Given the description of an element on the screen output the (x, y) to click on. 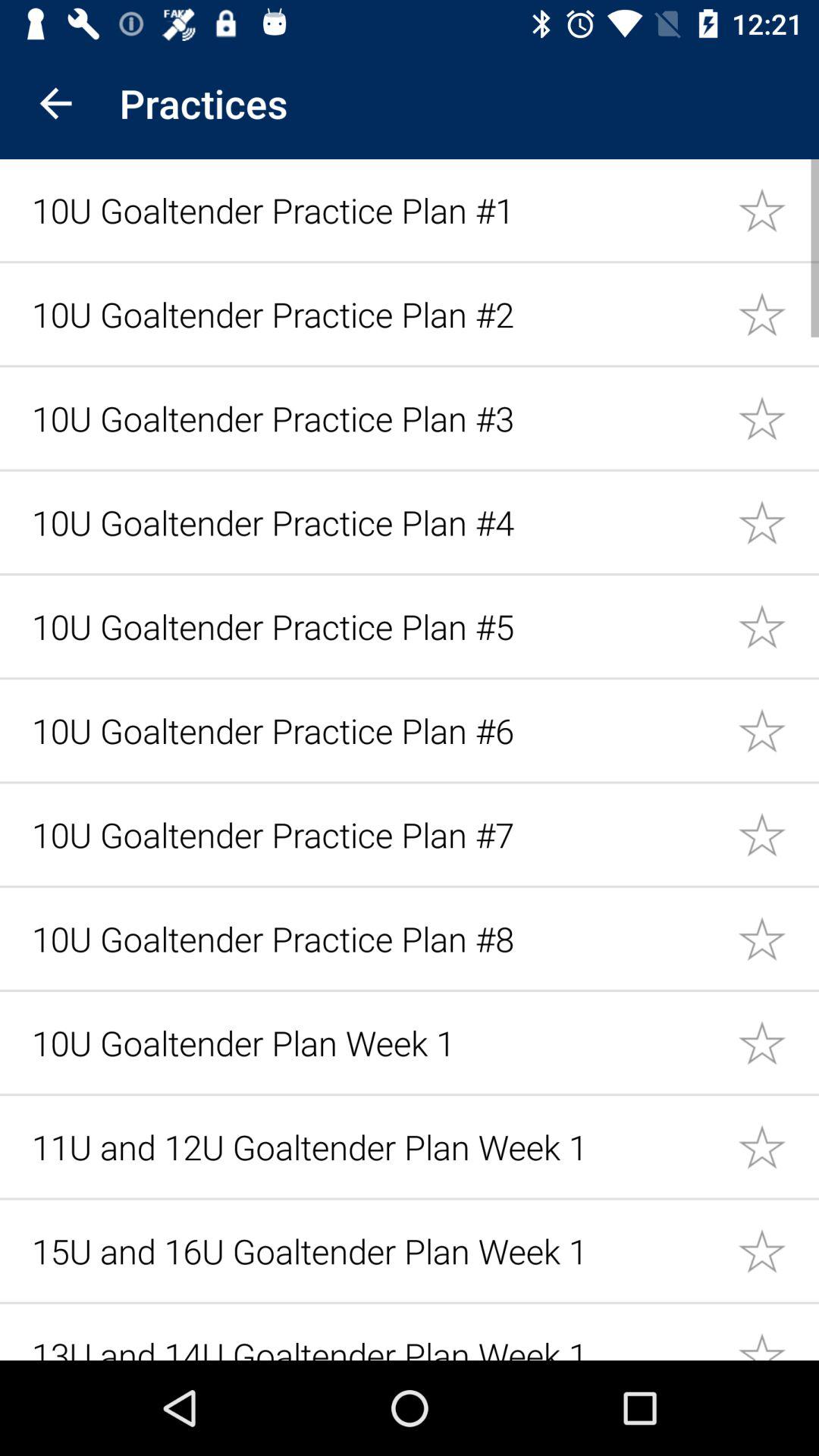
mark as favorite (778, 1146)
